Given the description of an element on the screen output the (x, y) to click on. 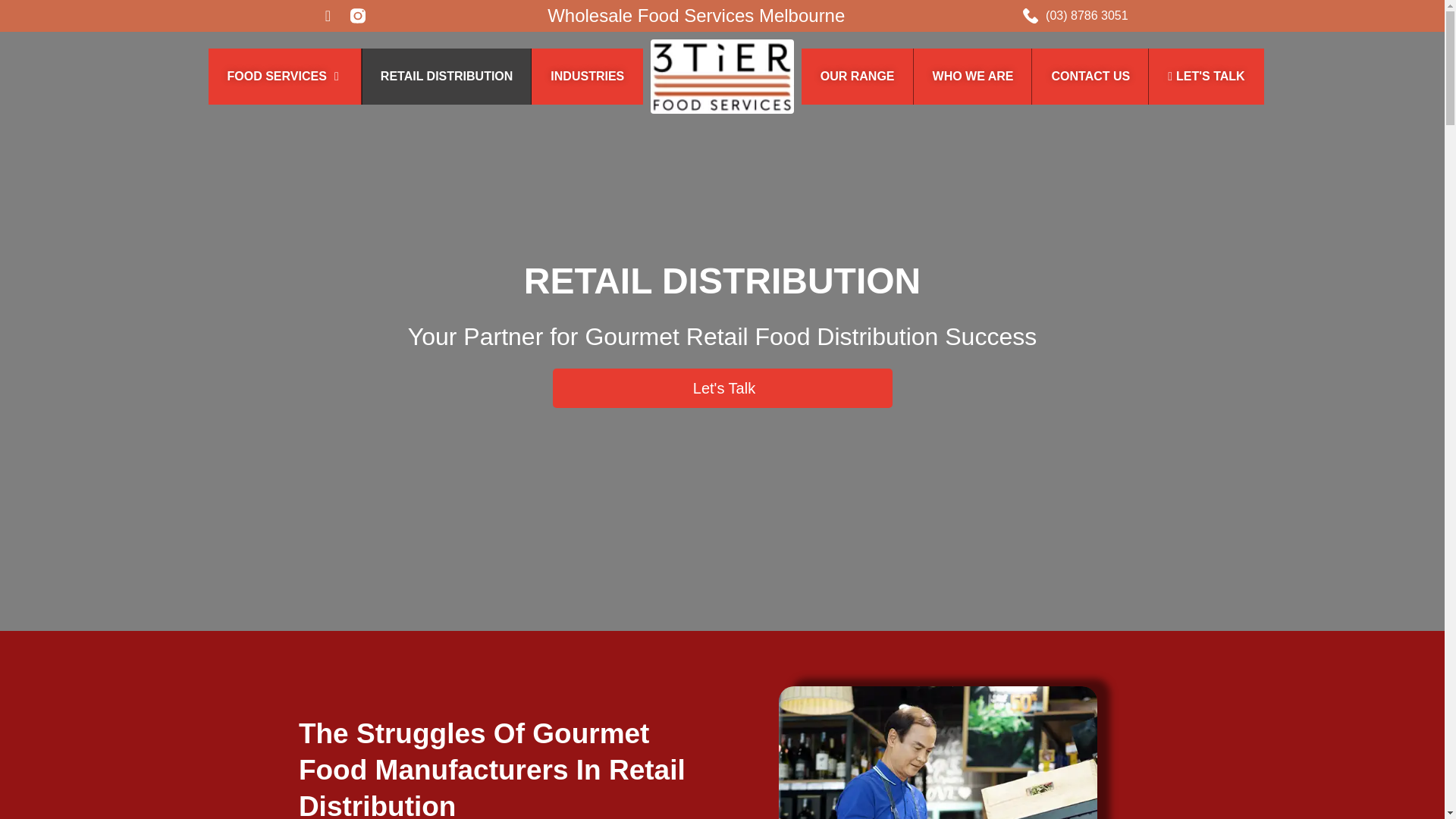
Facebook-f (327, 15)
CONTACT US (1090, 76)
INDUSTRIES (587, 76)
RETAIL DISTRIBUTION (446, 76)
OUR RANGE (858, 76)
FOOD SERVICES (276, 76)
LET'S TALK (1205, 76)
Let's Talk (721, 387)
WHO WE ARE (973, 76)
